Given the description of an element on the screen output the (x, y) to click on. 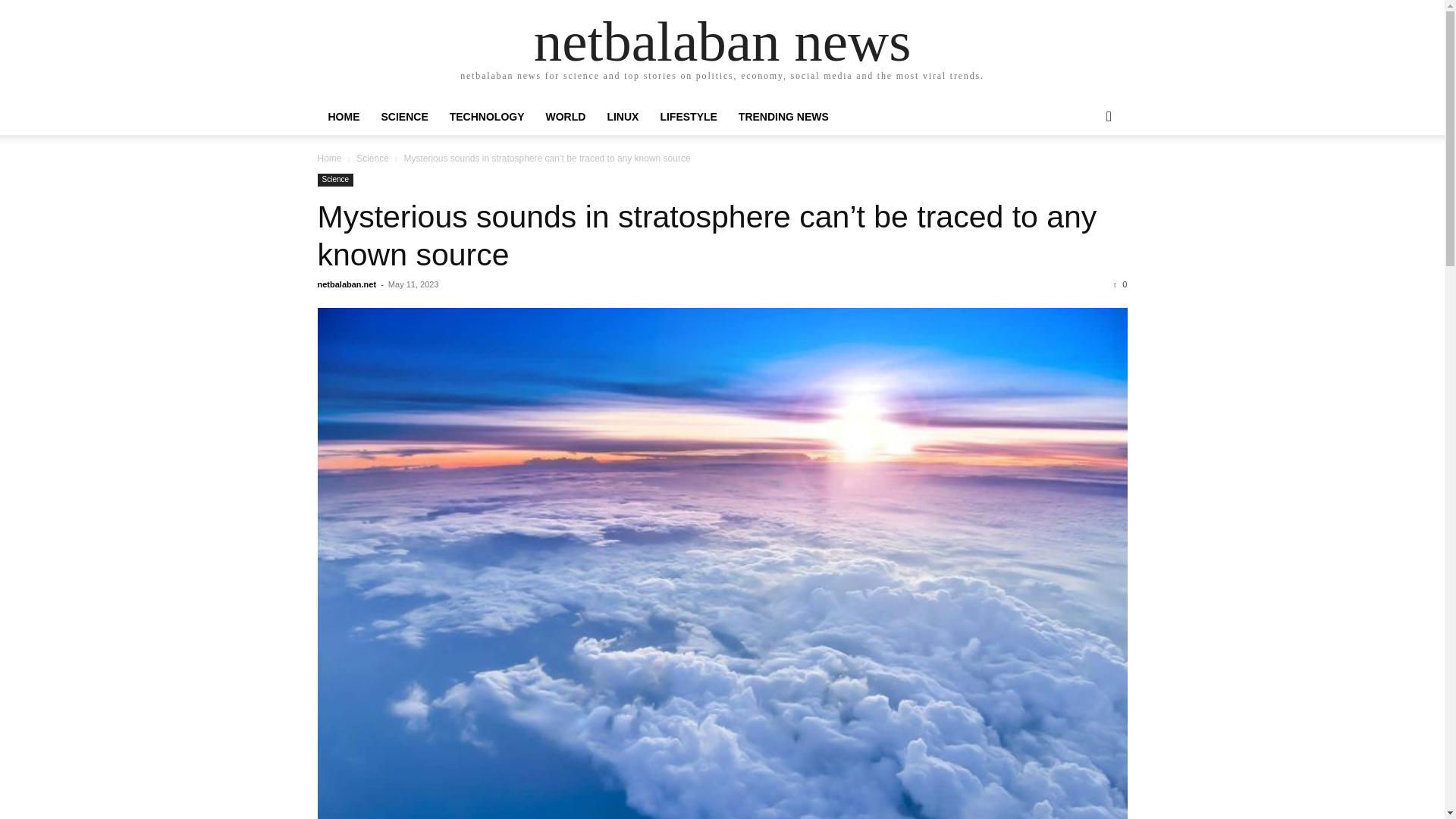
netbalaban.net (346, 284)
Science (372, 158)
Science (335, 179)
Search (1085, 177)
TECHNOLOGY (487, 116)
LIFESTYLE (687, 116)
Home (328, 158)
LINUX (622, 116)
0 (1119, 284)
netbalaban news (722, 41)
